Given the description of an element on the screen output the (x, y) to click on. 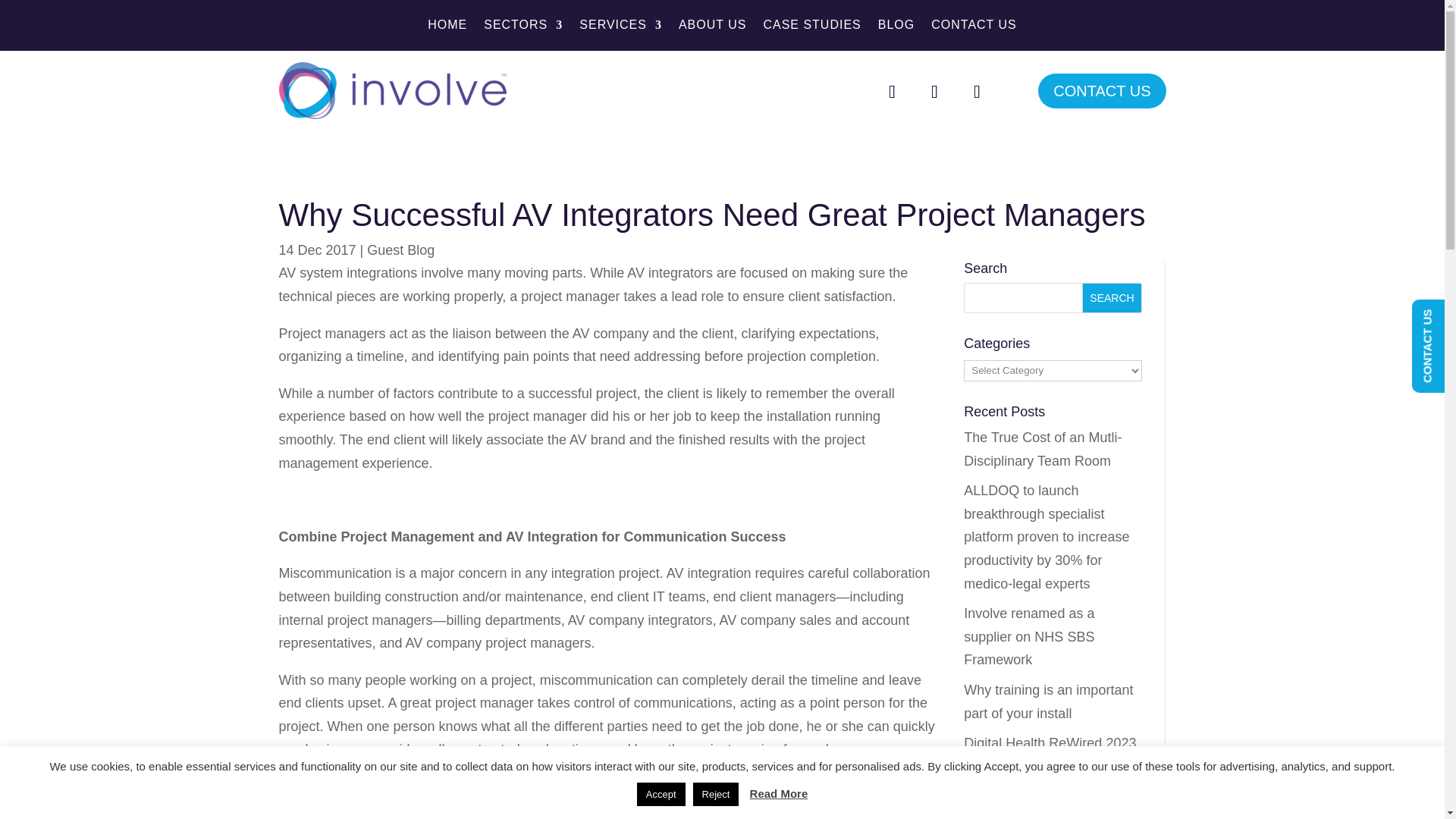
Follow on LinkedIn (976, 91)
Follow on X (933, 91)
Follow on Facebook (891, 91)
SECTORS (522, 28)
Involve (392, 90)
Search (1111, 297)
HOME (447, 28)
